Given the description of an element on the screen output the (x, y) to click on. 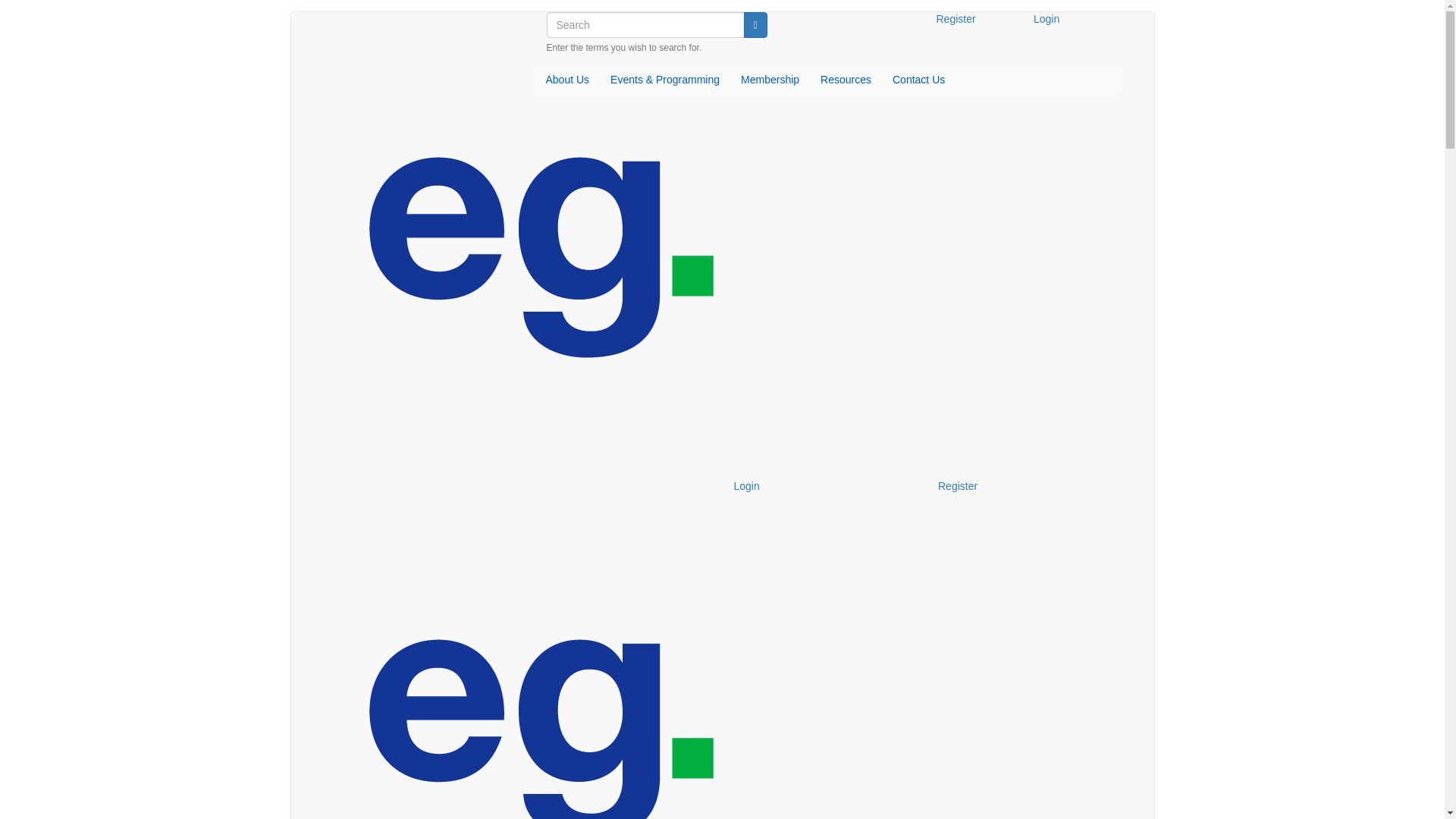
Login (824, 486)
Login (1070, 19)
Contact Us (918, 79)
About Us (567, 79)
Search (755, 24)
Register (1028, 486)
Register (973, 19)
